Given the description of an element on the screen output the (x, y) to click on. 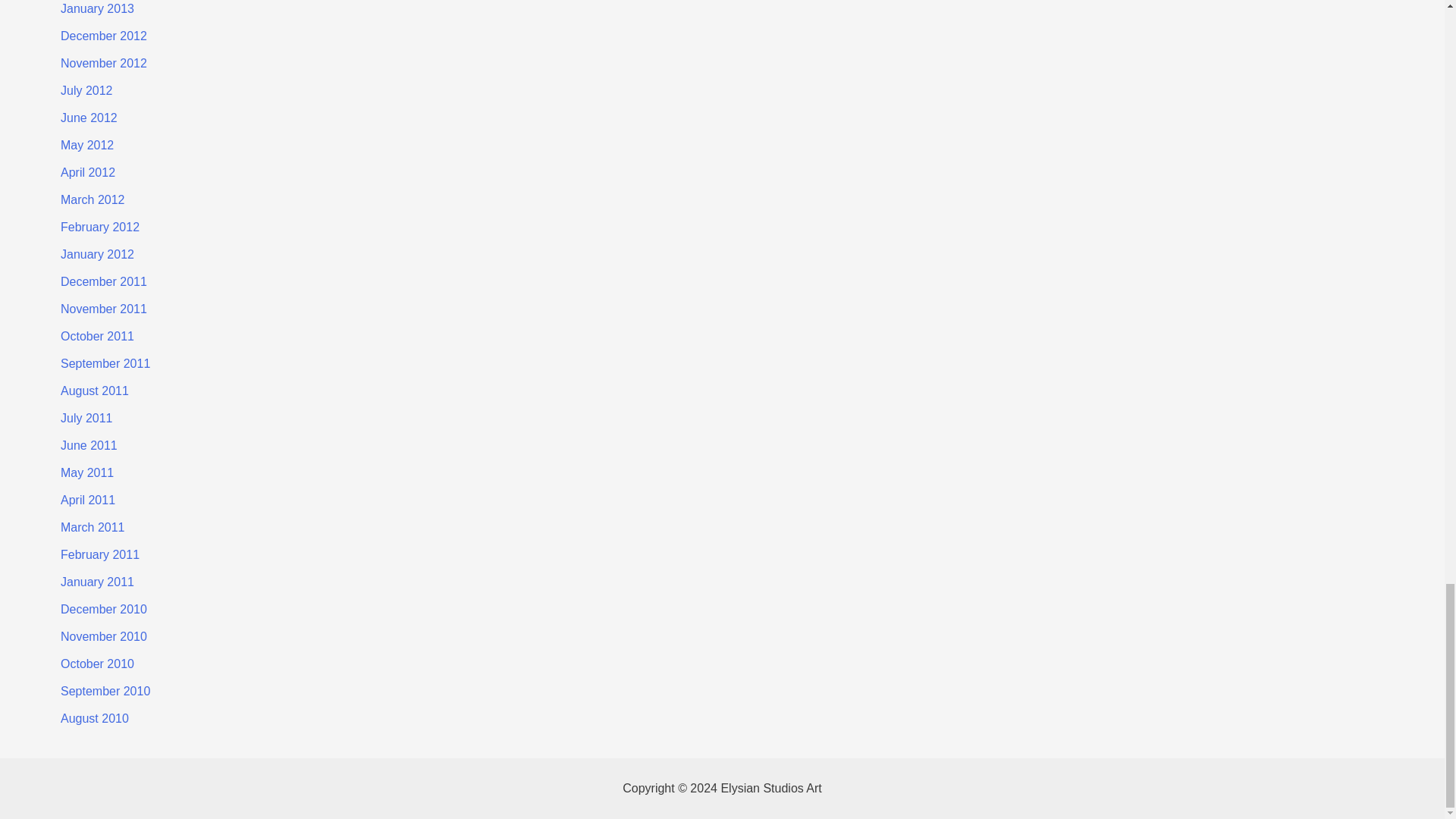
July 2012 (87, 90)
November 2012 (104, 62)
January 2012 (97, 254)
June 2012 (89, 117)
September 2011 (105, 363)
February 2012 (100, 226)
December 2011 (104, 281)
May 2012 (87, 144)
November 2011 (104, 308)
October 2011 (97, 336)
